Given the description of an element on the screen output the (x, y) to click on. 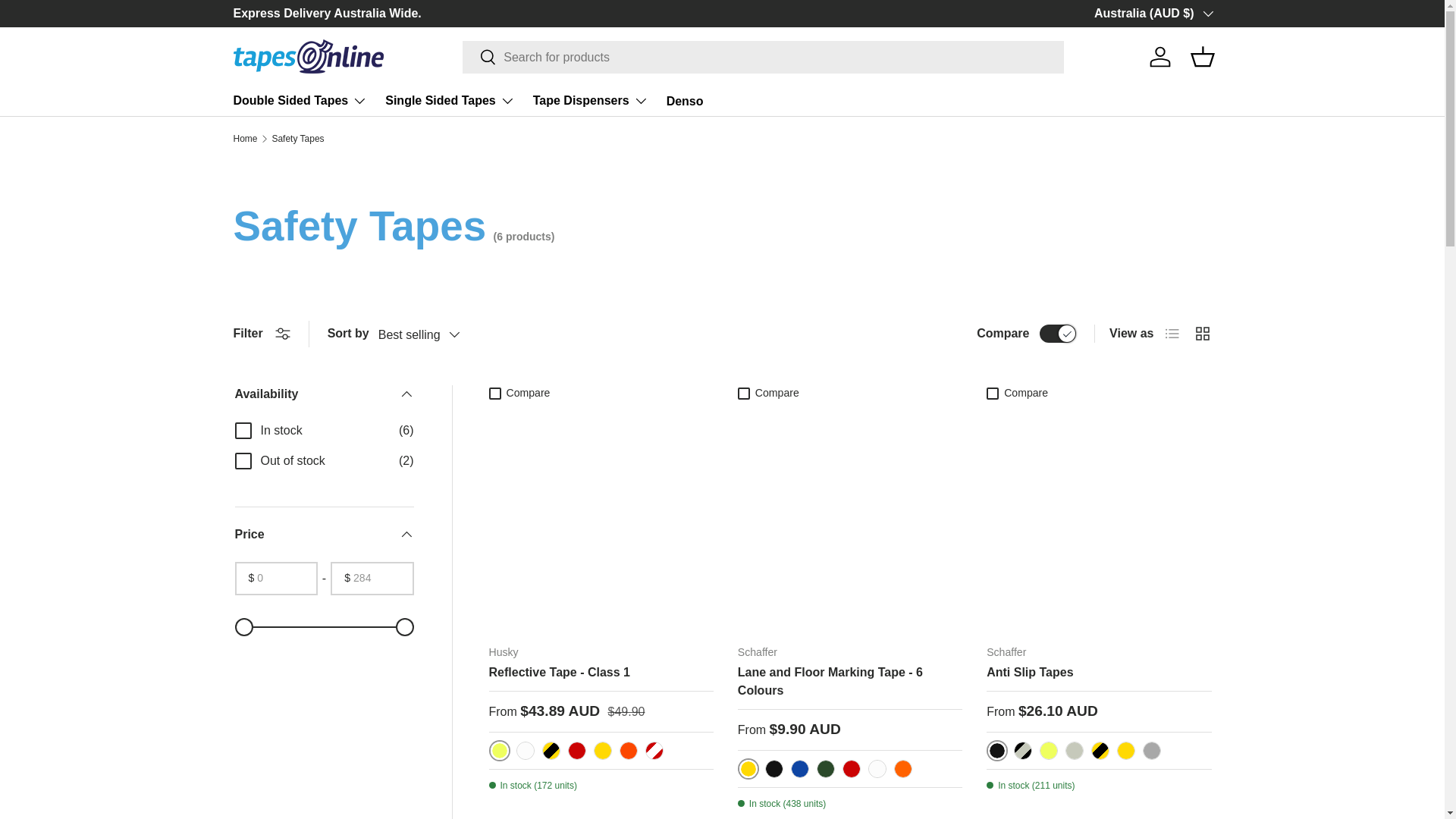
Yellow (601, 751)
Green (825, 769)
Red (851, 769)
Single Sided Tapes (450, 100)
Double Sided Tapes (300, 100)
White and Red (653, 751)
0 (324, 627)
Fluoro Yellow (498, 751)
284 (324, 627)
Glow in the dark (1074, 751)
